Given the description of an element on the screen output the (x, y) to click on. 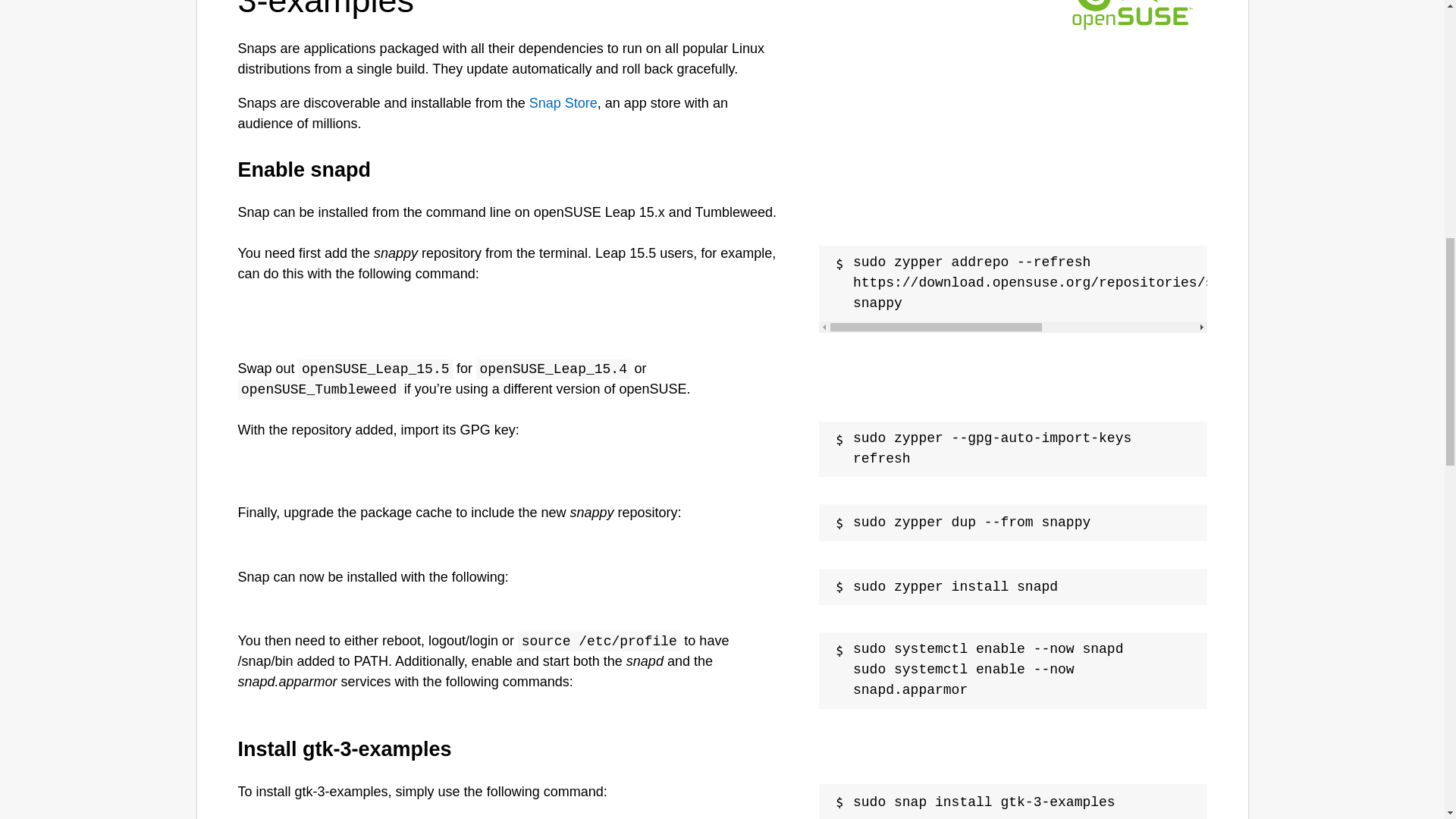
Snap Store (562, 102)
